Given the description of an element on the screen output the (x, y) to click on. 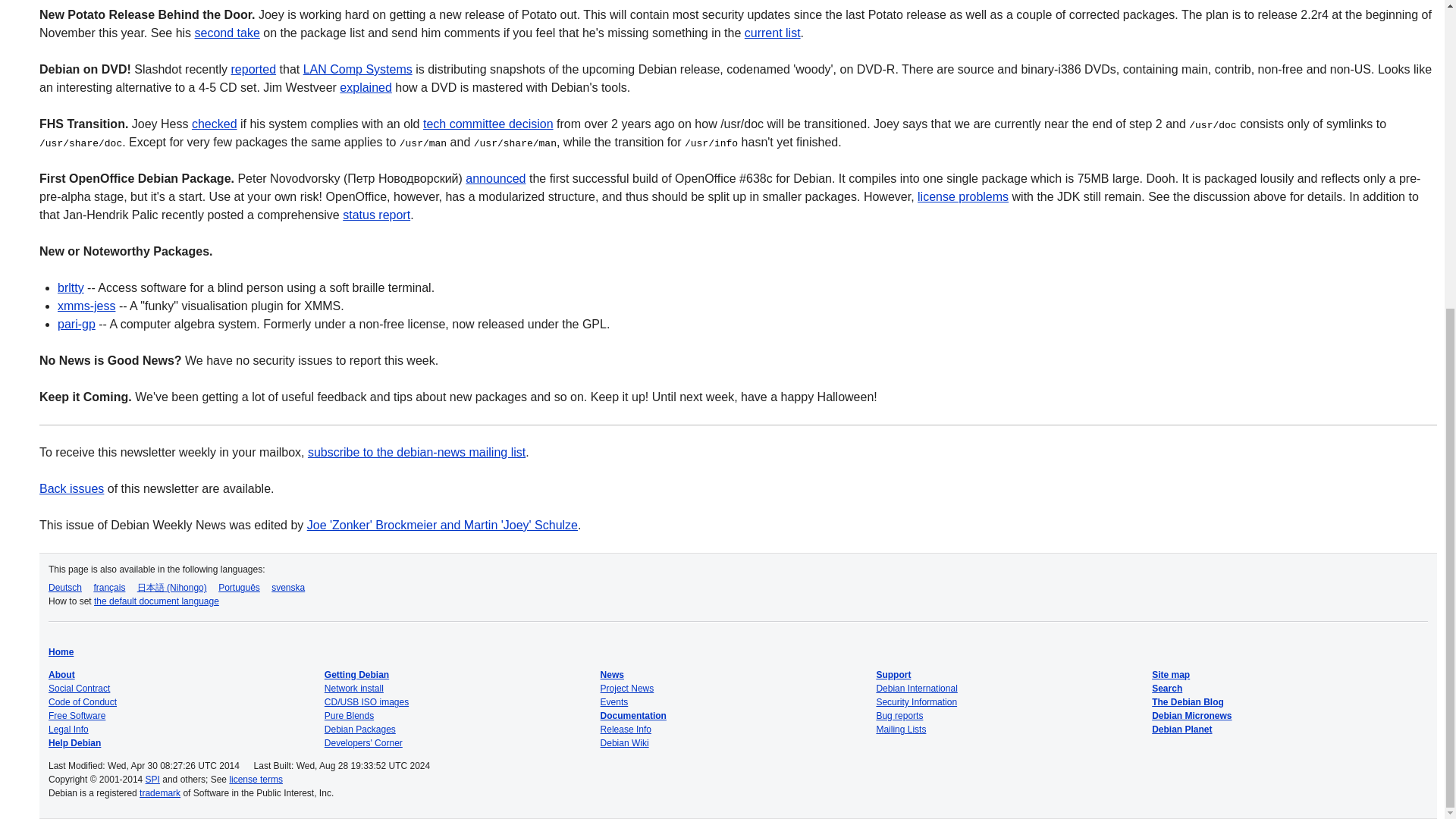
Swedish (287, 587)
About (61, 674)
reported (253, 69)
subscribe to the debian-news mailing list (416, 451)
explained (365, 87)
current list (772, 32)
tech committee decision (488, 123)
license problems (963, 196)
pari-gp (77, 323)
the default document language (156, 601)
